Given the description of an element on the screen output the (x, y) to click on. 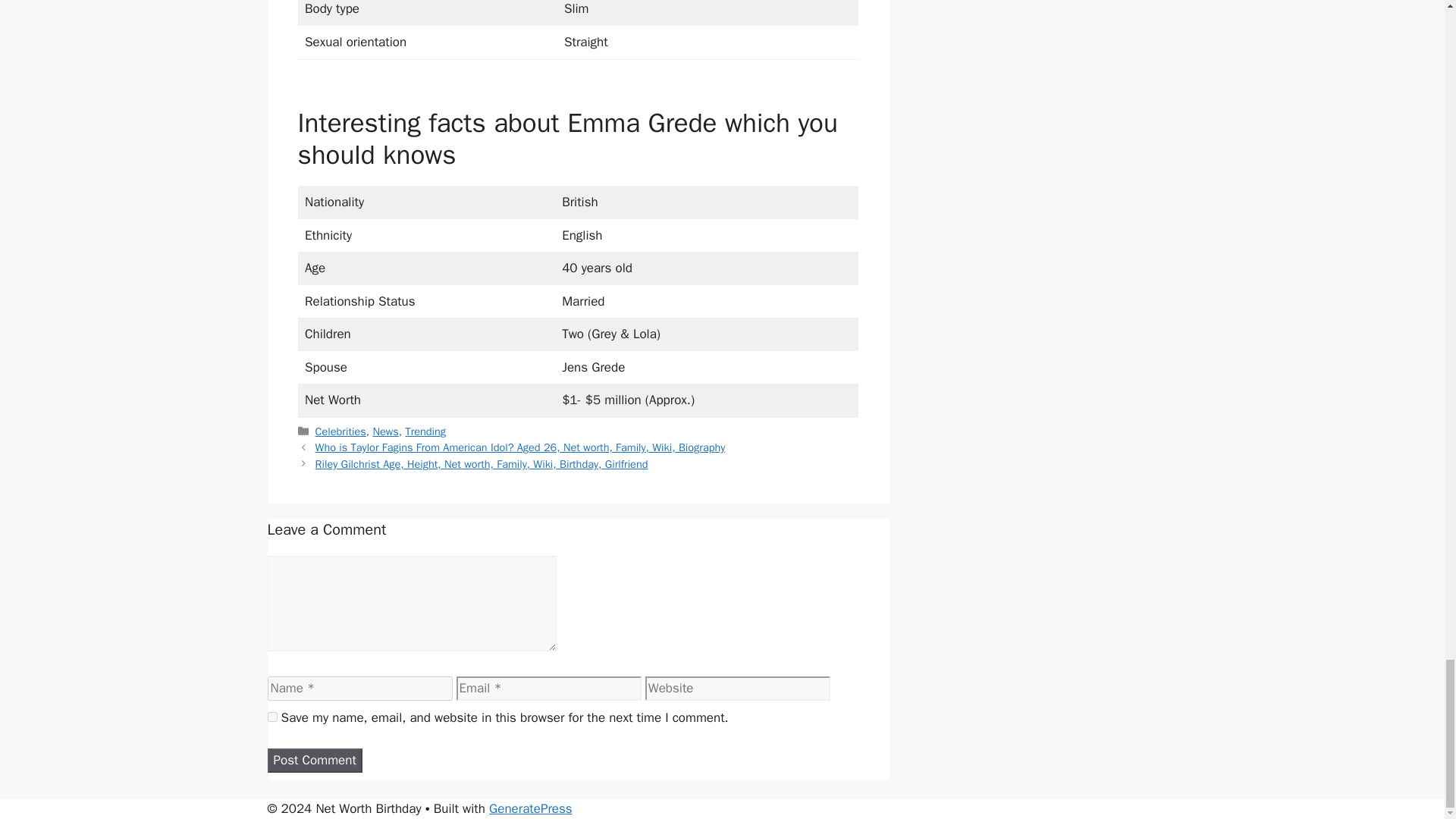
yes (271, 716)
Celebrities (340, 431)
News (384, 431)
Trending (424, 431)
Post Comment (313, 760)
Post Comment (313, 760)
